Given the description of an element on the screen output the (x, y) to click on. 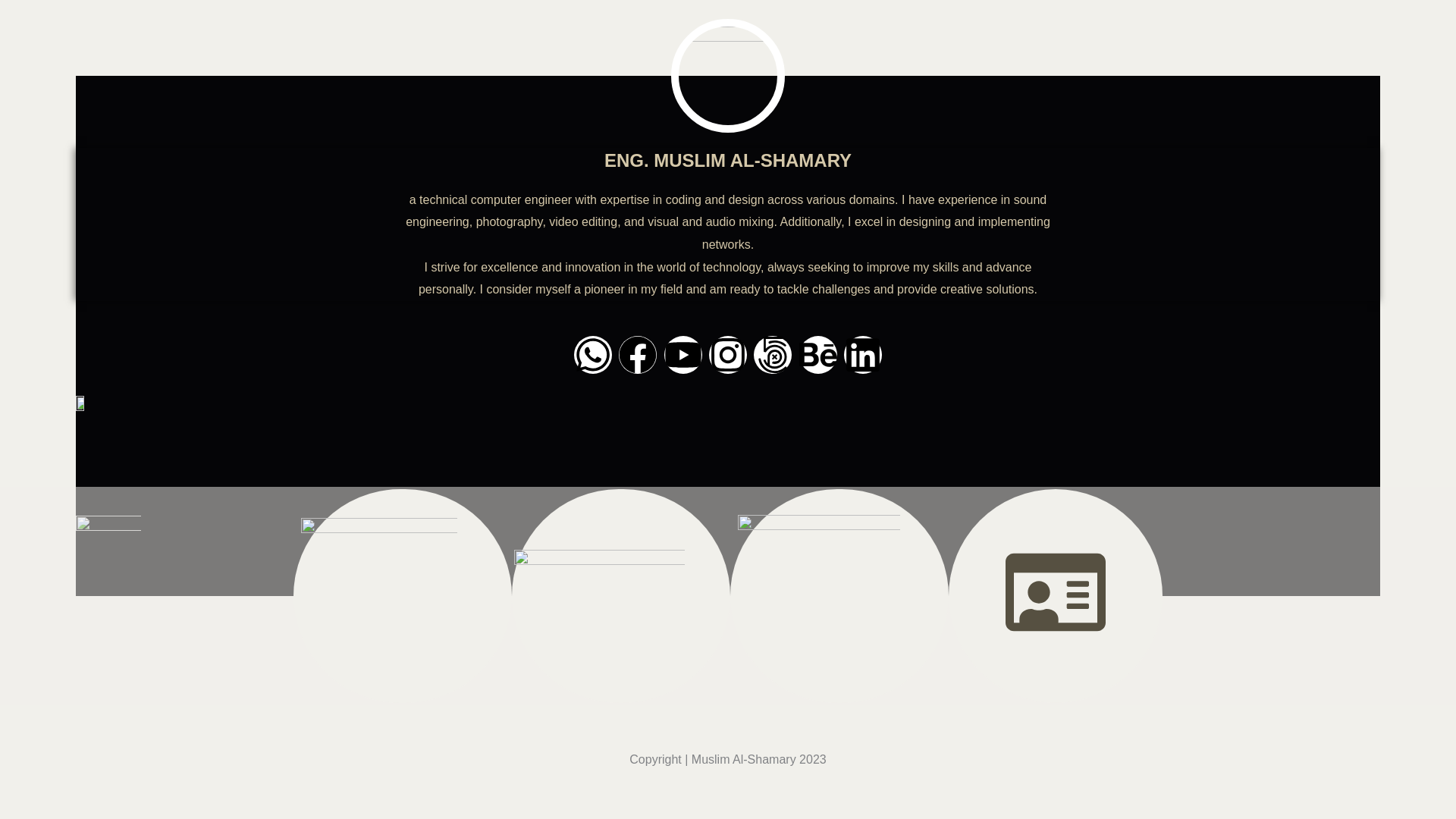
Whatsapp (592, 354)
Linkedin (863, 354)
Youtube (682, 354)
Behance (818, 354)
Facebook (637, 354)
Instagram (727, 354)
500px (773, 354)
